Given the description of an element on the screen output the (x, y) to click on. 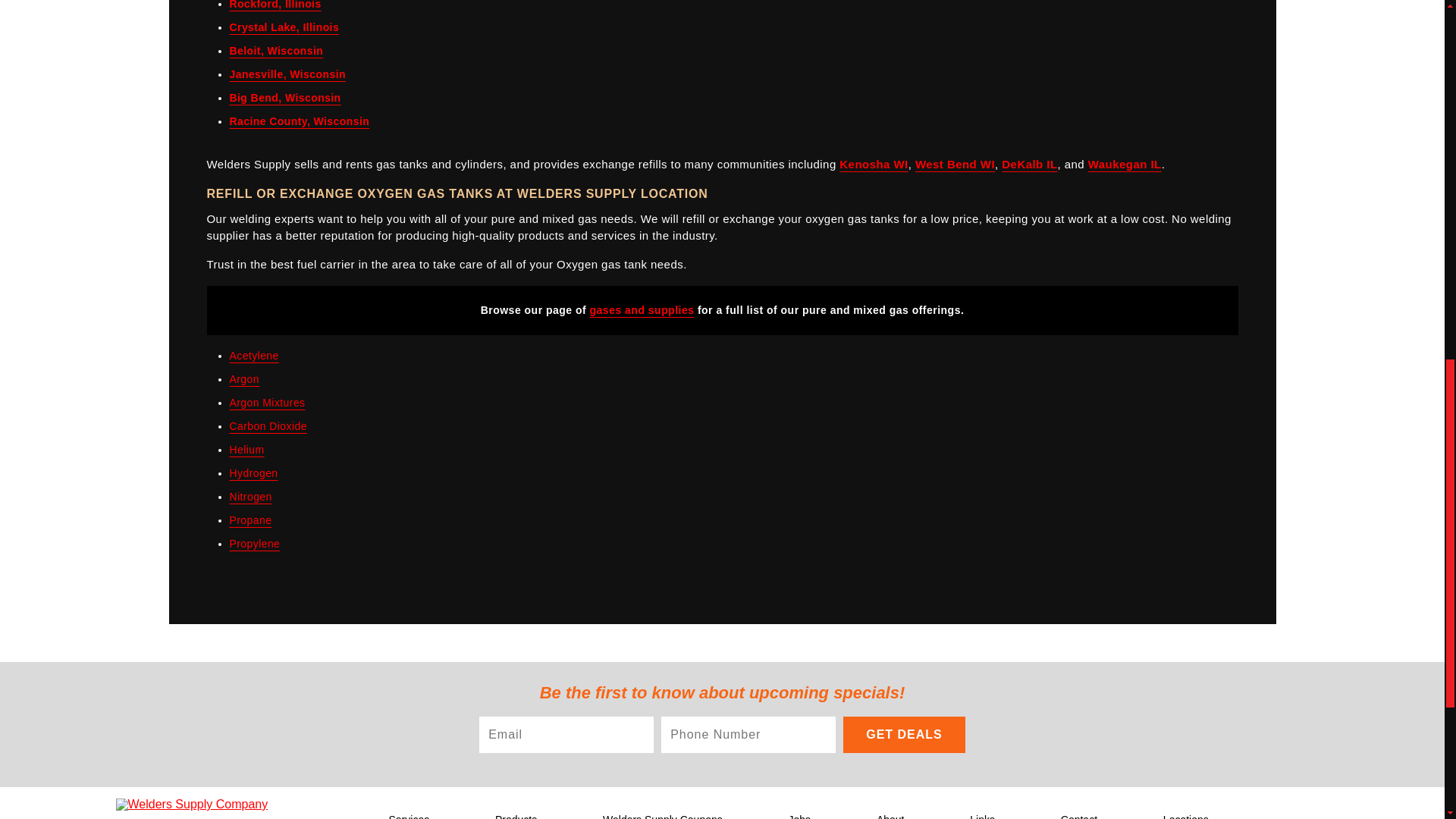
GET DEALS (904, 734)
